Given the description of an element on the screen output the (x, y) to click on. 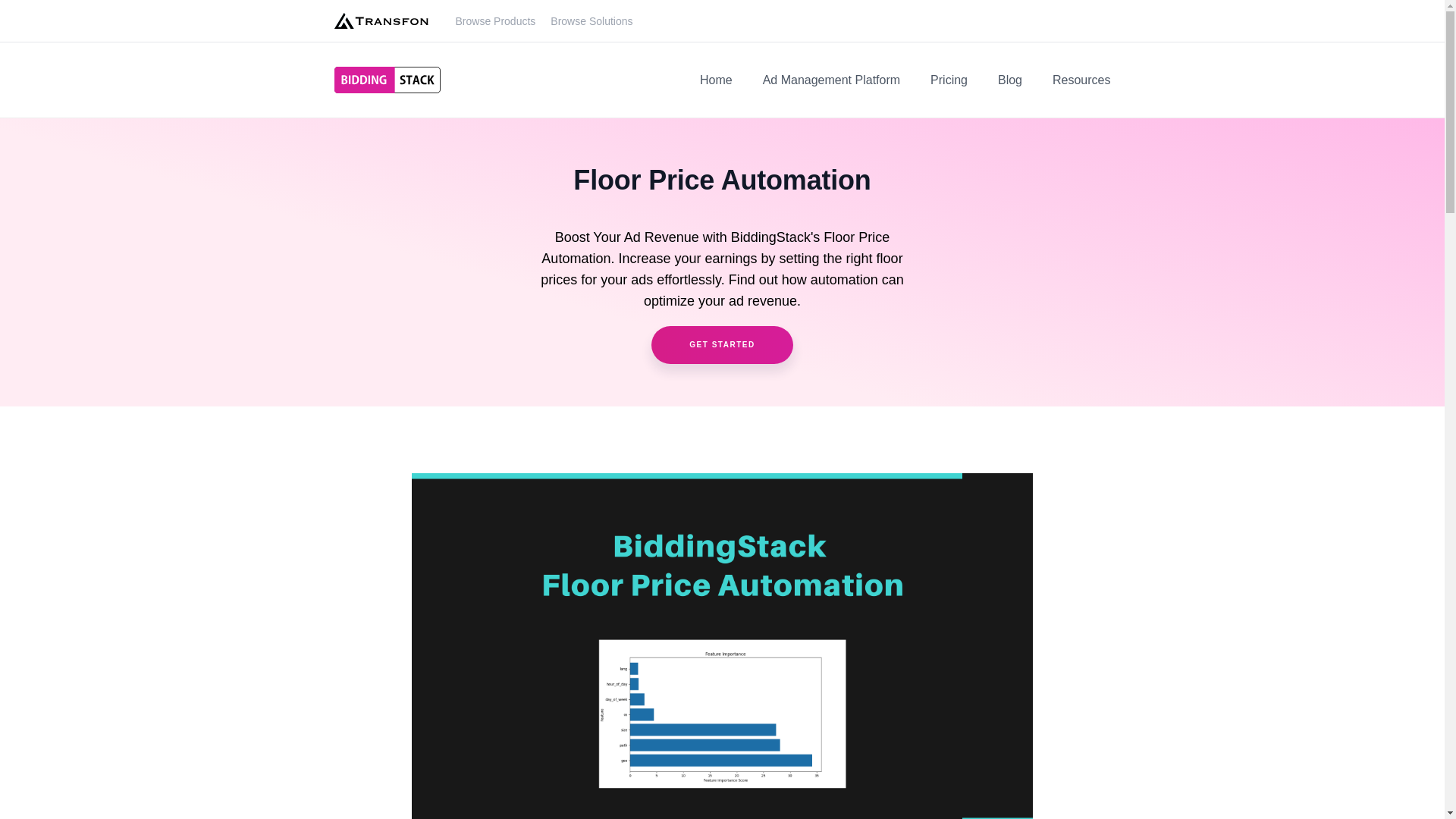
Signup (721, 344)
Resources (1080, 80)
Browse Solutions (590, 20)
Browse Products (494, 20)
Ad Management Platform (830, 80)
BiddingStack (386, 79)
Pricing (949, 80)
GET STARTED (721, 344)
Blog (1009, 80)
Home (716, 80)
